Given the description of an element on the screen output the (x, y) to click on. 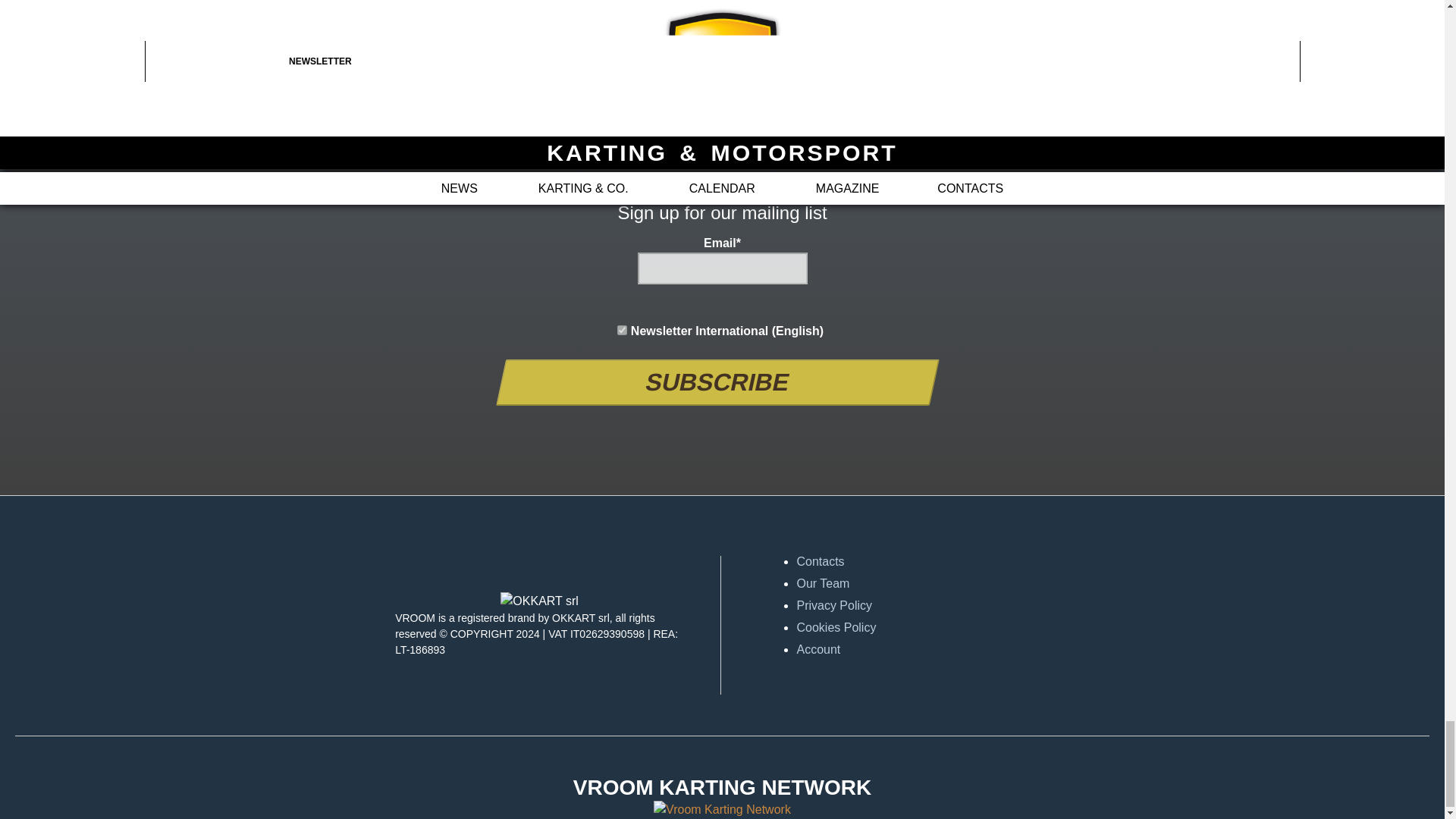
Our Team (940, 583)
Privacy Policy (940, 606)
Cookies Policy (940, 628)
Account (940, 649)
Subscribe (713, 382)
2 (622, 329)
Contacts (940, 561)
